Given the description of an element on the screen output the (x, y) to click on. 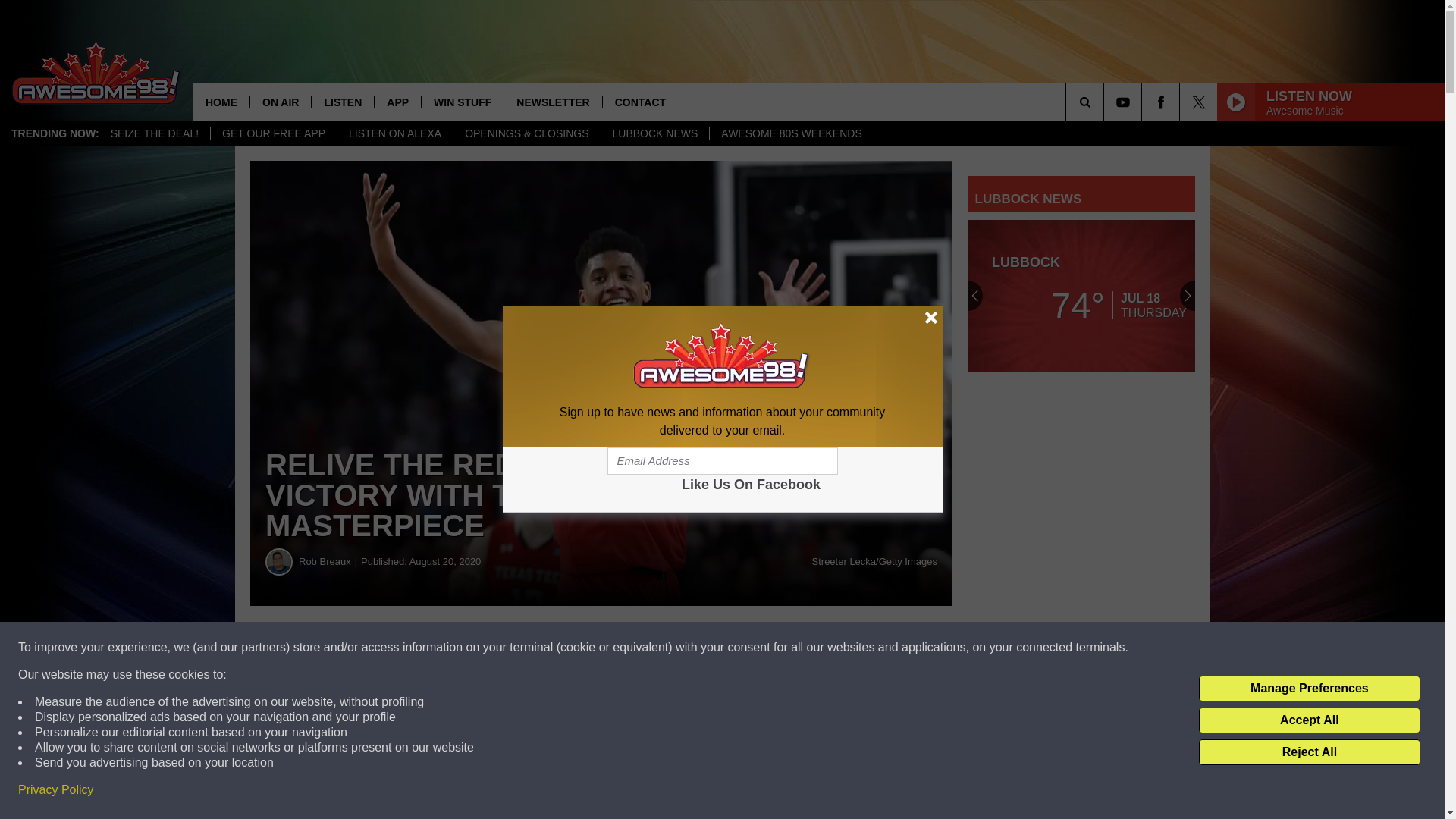
APP (397, 102)
Email Address (722, 461)
Share on Twitter (741, 647)
Lubbock Weather (1081, 295)
HOME (220, 102)
GET OUR FREE APP (272, 133)
AWESOME 80S WEEKENDS (790, 133)
LISTEN (342, 102)
Manage Preferences (1309, 688)
LUBBOCK NEWS (654, 133)
SEARCH (1106, 102)
Reject All (1309, 751)
WIN STUFF (461, 102)
SEARCH (1106, 102)
Share on Facebook (460, 647)
